Given the description of an element on the screen output the (x, y) to click on. 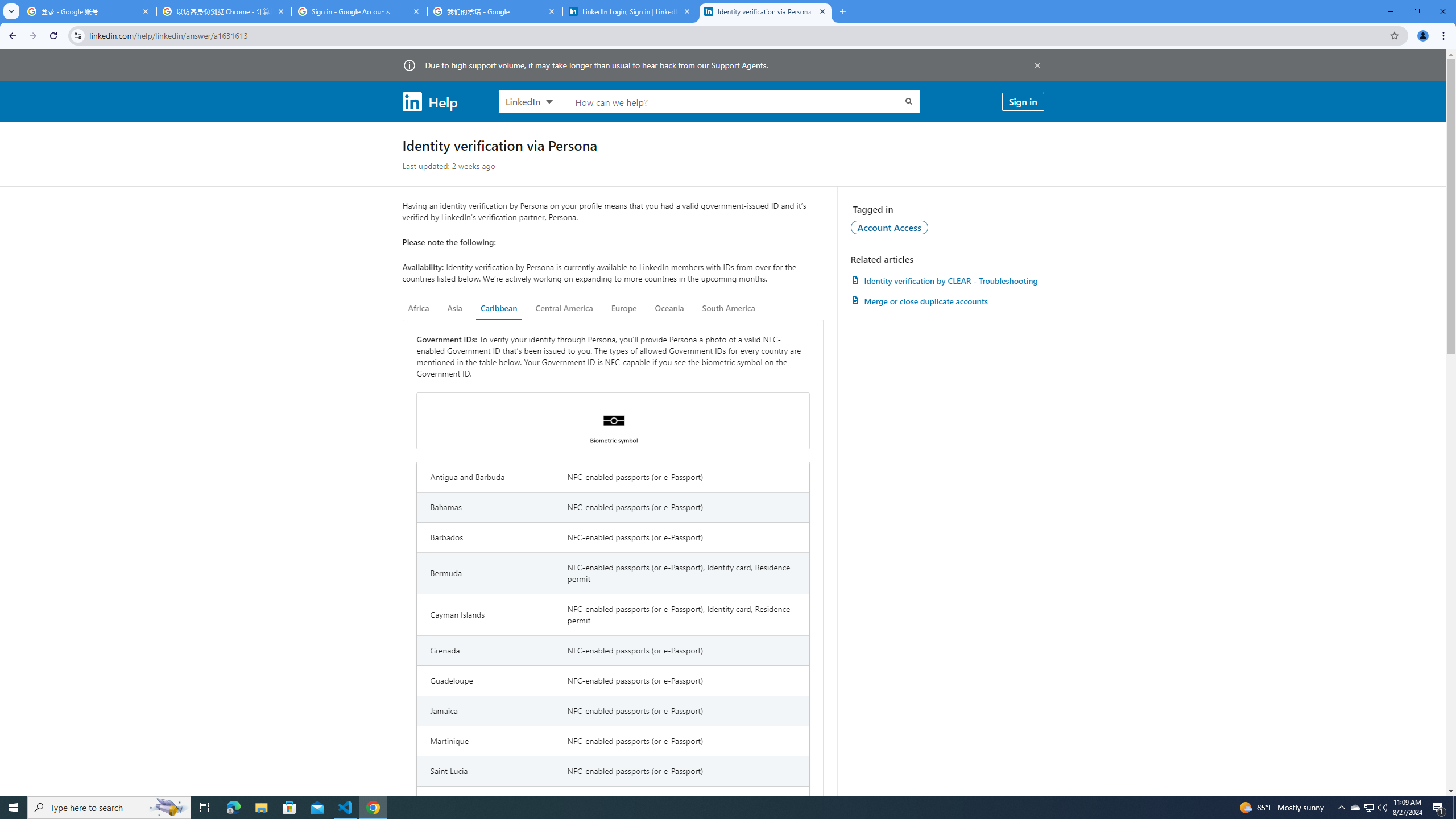
Sign in - Google Accounts (359, 11)
Account Access (889, 227)
AutomationID: topic-link-a151002 (889, 227)
Help (429, 101)
AutomationID: article-link-a1337200 (946, 300)
Asia (454, 308)
